Given the description of an element on the screen output the (x, y) to click on. 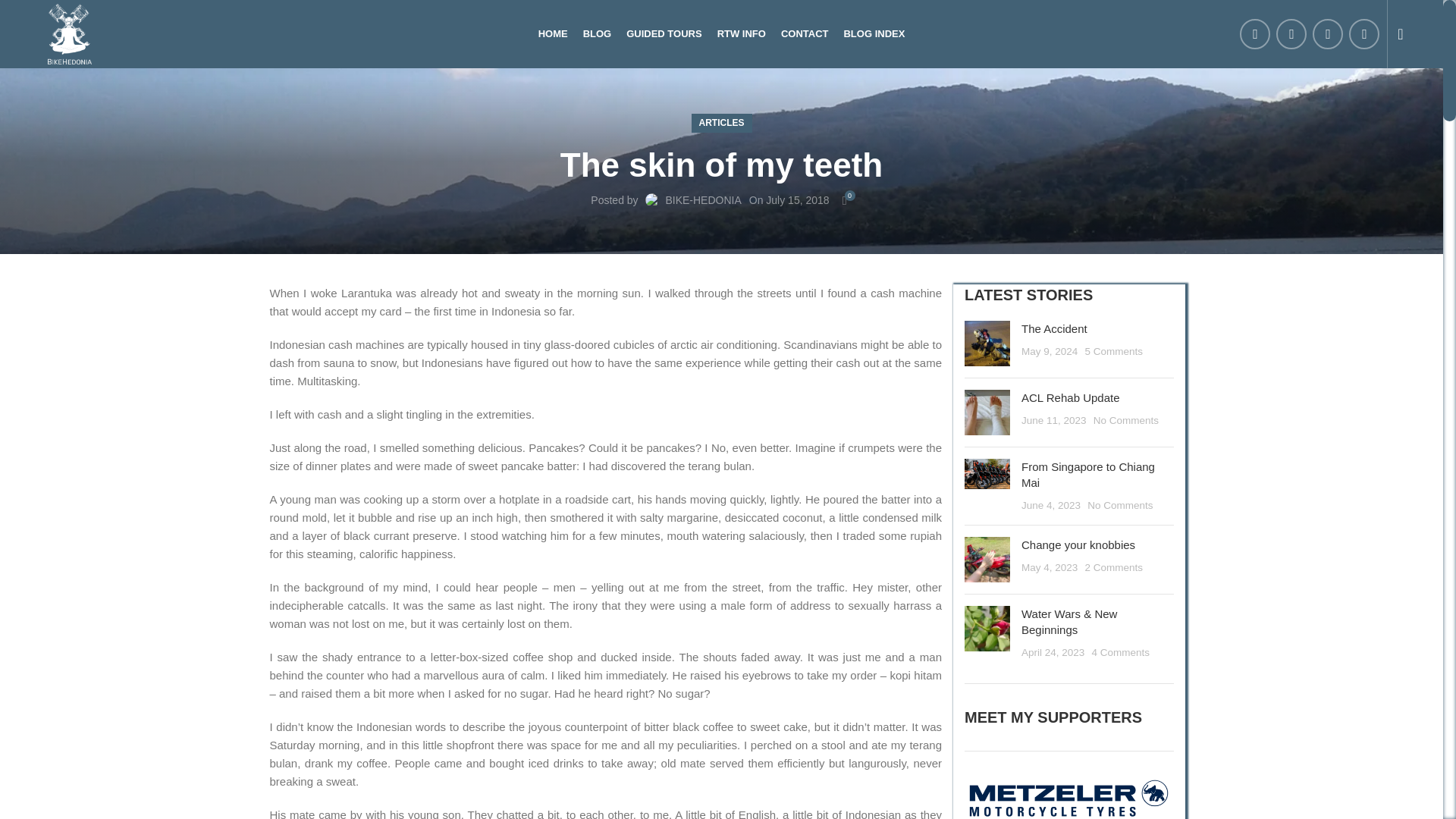
BIKE-HEDONIA (703, 200)
Permalink to Change your knobbies (1078, 544)
CONTACT (804, 33)
0 (844, 200)
HOME (552, 33)
BLOG INDEX (873, 33)
Permalink to The Accident (1054, 328)
BLOG (597, 33)
Permalink to ACL Rehab Update (1070, 397)
GUIDED TOURS (663, 33)
RTW INFO (741, 33)
ARTICLES (721, 33)
Permalink to From Singapore to Chiang Mai (721, 122)
